Given the description of an element on the screen output the (x, y) to click on. 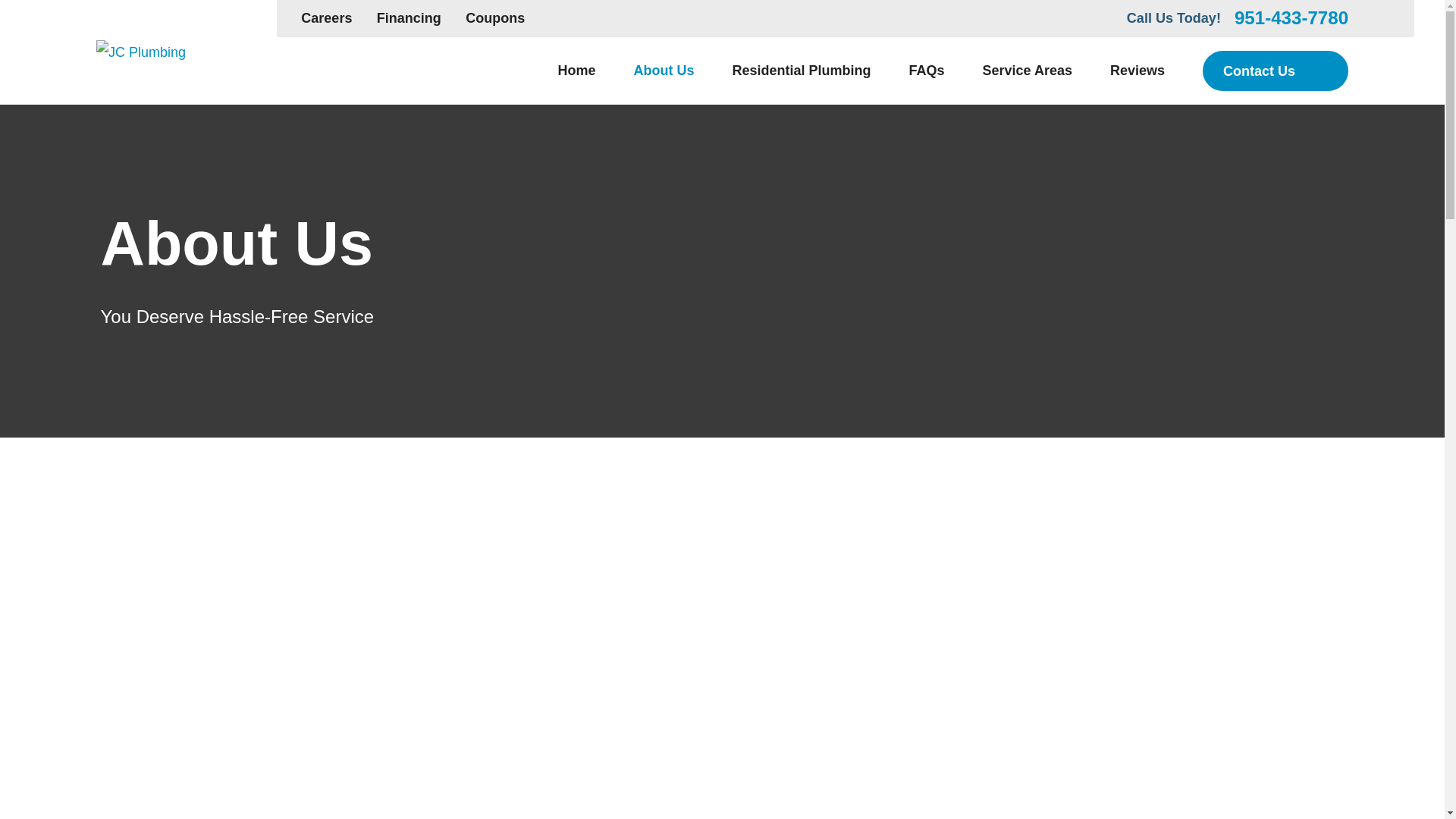
Financing (409, 17)
Home (141, 52)
Home (576, 70)
951-433-7780 (1291, 18)
Coupons (494, 17)
Residential Plumbing (801, 70)
About Us (663, 70)
Careers (326, 17)
